Given the description of an element on the screen output the (x, y) to click on. 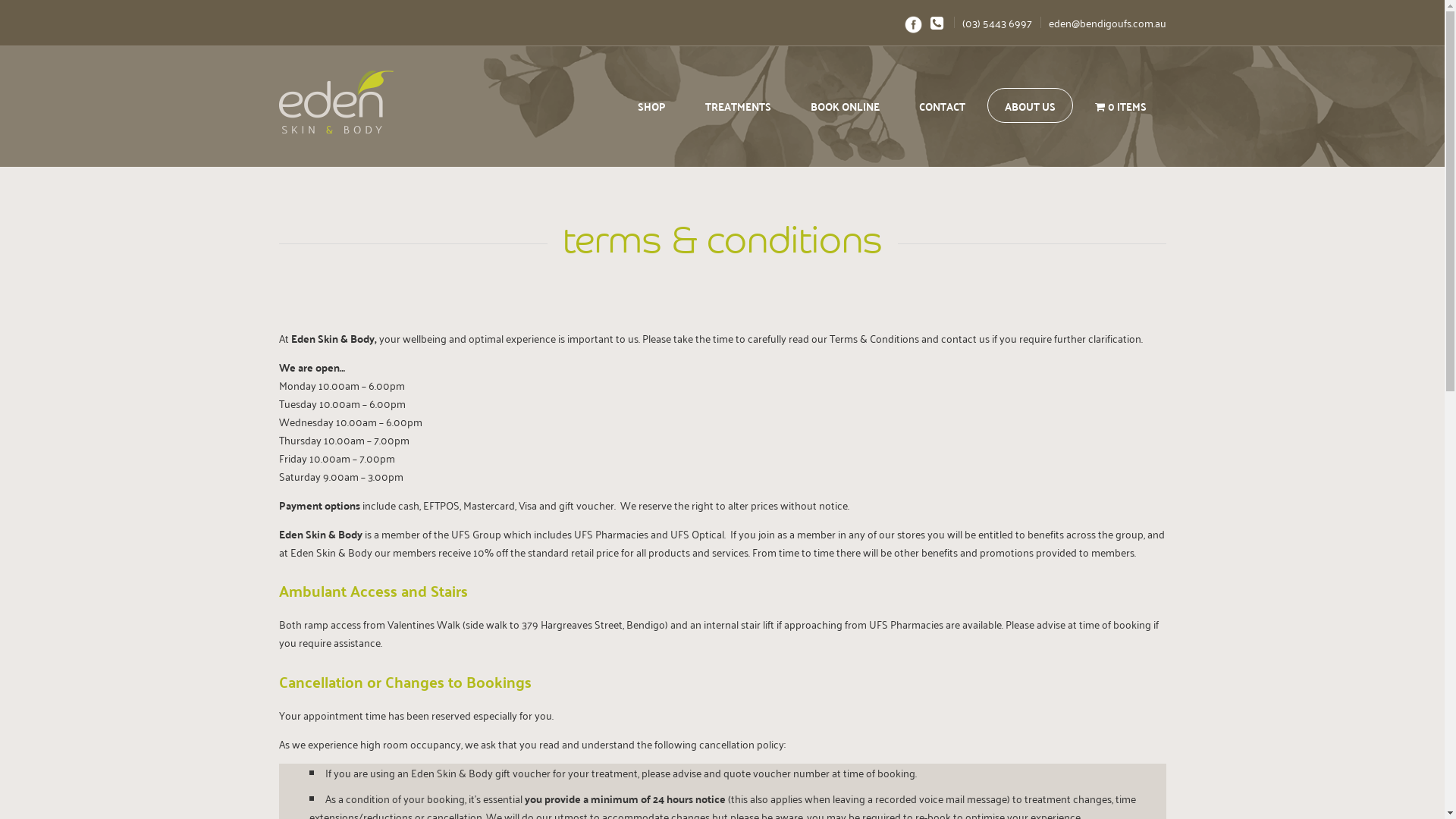
BOOK ONLINE Element type: text (845, 104)
0 ITEMS Element type: text (1120, 104)
ABOUT US Element type: text (1030, 104)
TREATMENTS Element type: text (737, 104)
CONTACT Element type: text (941, 104)
SHOP Element type: text (651, 104)
Eden Skin & Body Element type: hover (336, 101)
eden@bendigoufs.com.au Element type: text (1103, 22)
(03) 5443 6997 Element type: text (992, 22)
Eden Skin & Body Element type: hover (367, 103)
